Given the description of an element on the screen output the (x, y) to click on. 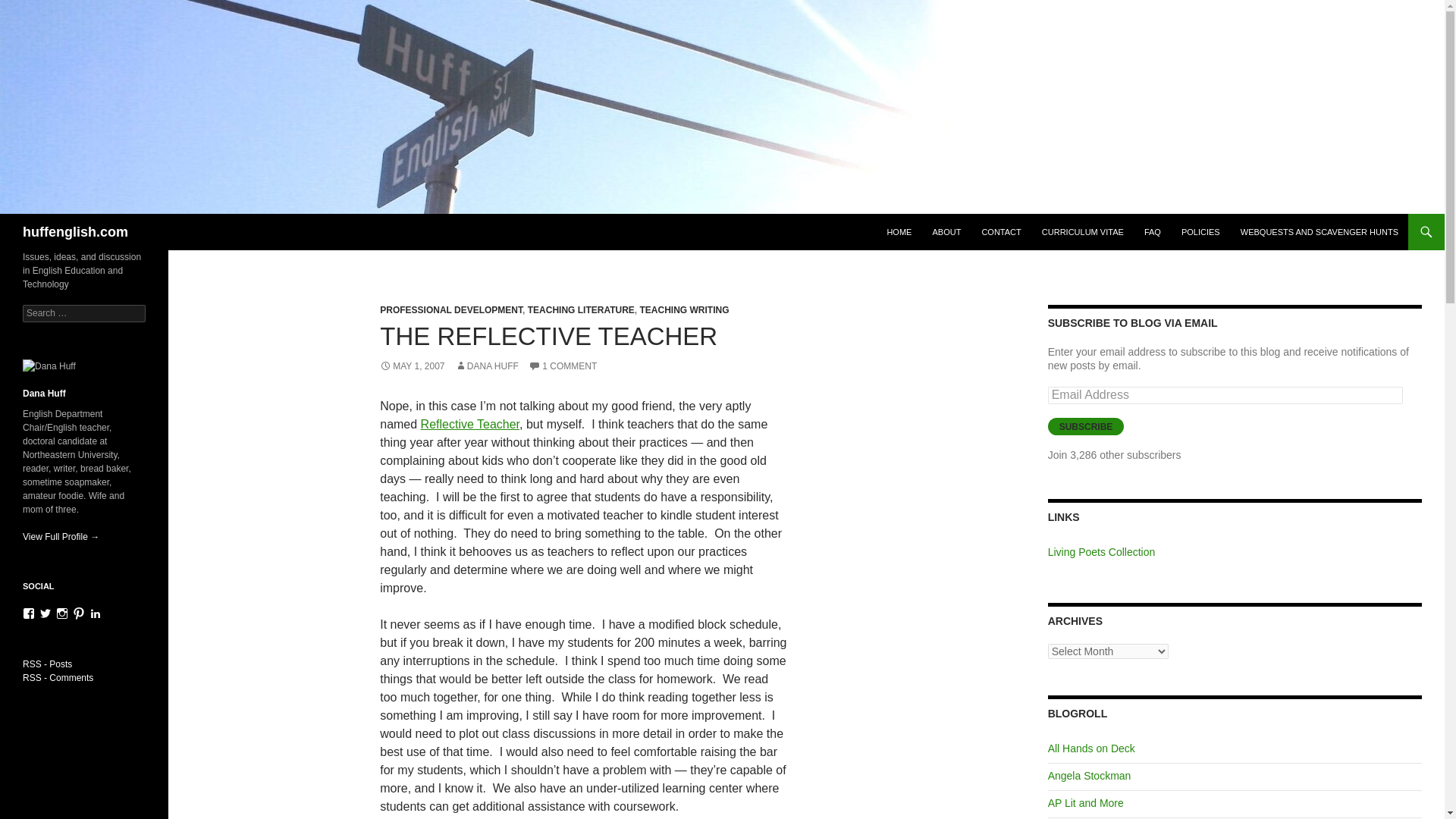
Subscribe to comments (58, 677)
FAQ (1152, 231)
TEACHING WRITING (684, 309)
The Reflective Teacher (469, 423)
MAY 1, 2007 (412, 366)
POLICIES (1200, 231)
AP Lit and More (1086, 802)
1 COMMENT (562, 366)
TEACHING LITERATURE (580, 309)
Reflective Teacher (469, 423)
